Given the description of an element on the screen output the (x, y) to click on. 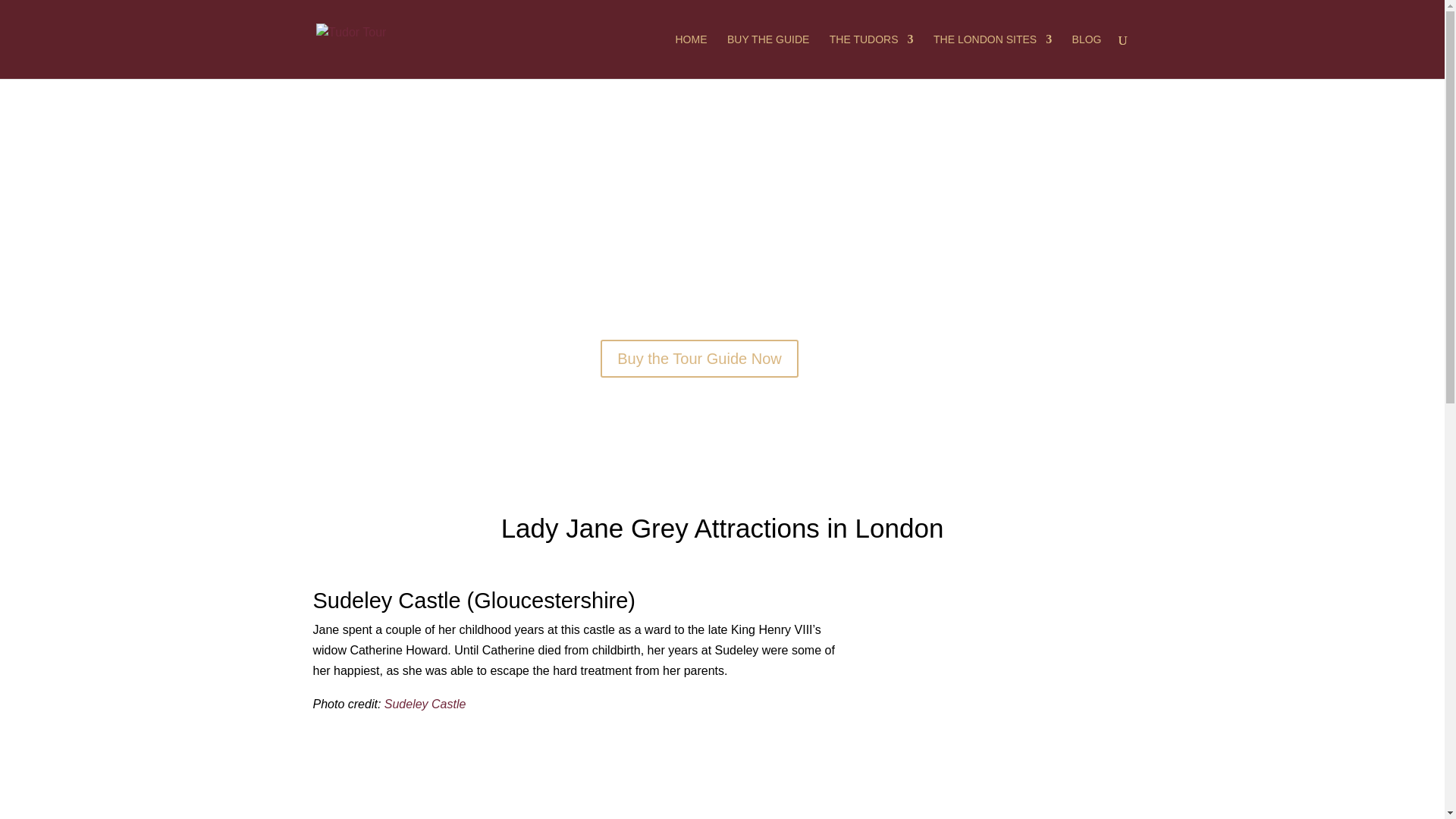
Sudeley Castle (424, 703)
Buy the Tour Guide Now (698, 358)
Sudeley Castle (424, 703)
BUY THE GUIDE (767, 56)
THE LONDON SITES (992, 56)
THE TUDORS (871, 56)
